Given the description of an element on the screen output the (x, y) to click on. 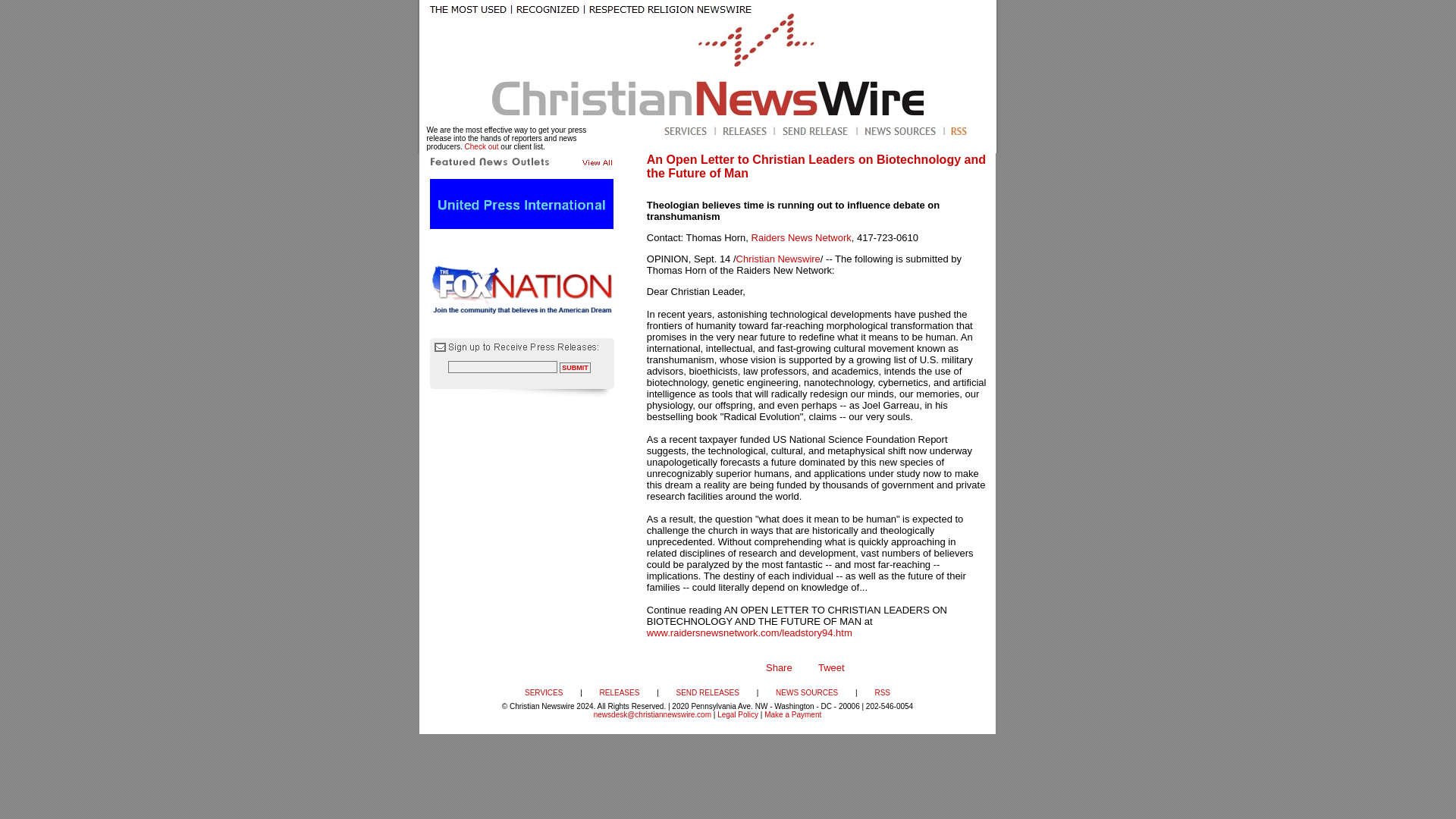
Make a Payment (792, 714)
NEWS SOURCES (807, 692)
Fox News Nation (521, 285)
RSS (882, 692)
Christian Newswire (778, 258)
Raiders News Network (801, 237)
United Press International (520, 204)
SERVICES (543, 692)
Share (778, 667)
Legal Policy (737, 714)
RELEASES (619, 692)
Tweet (831, 667)
Check out (481, 146)
SEND RELEASES (708, 692)
SUBMIT (575, 367)
